Given the description of an element on the screen output the (x, y) to click on. 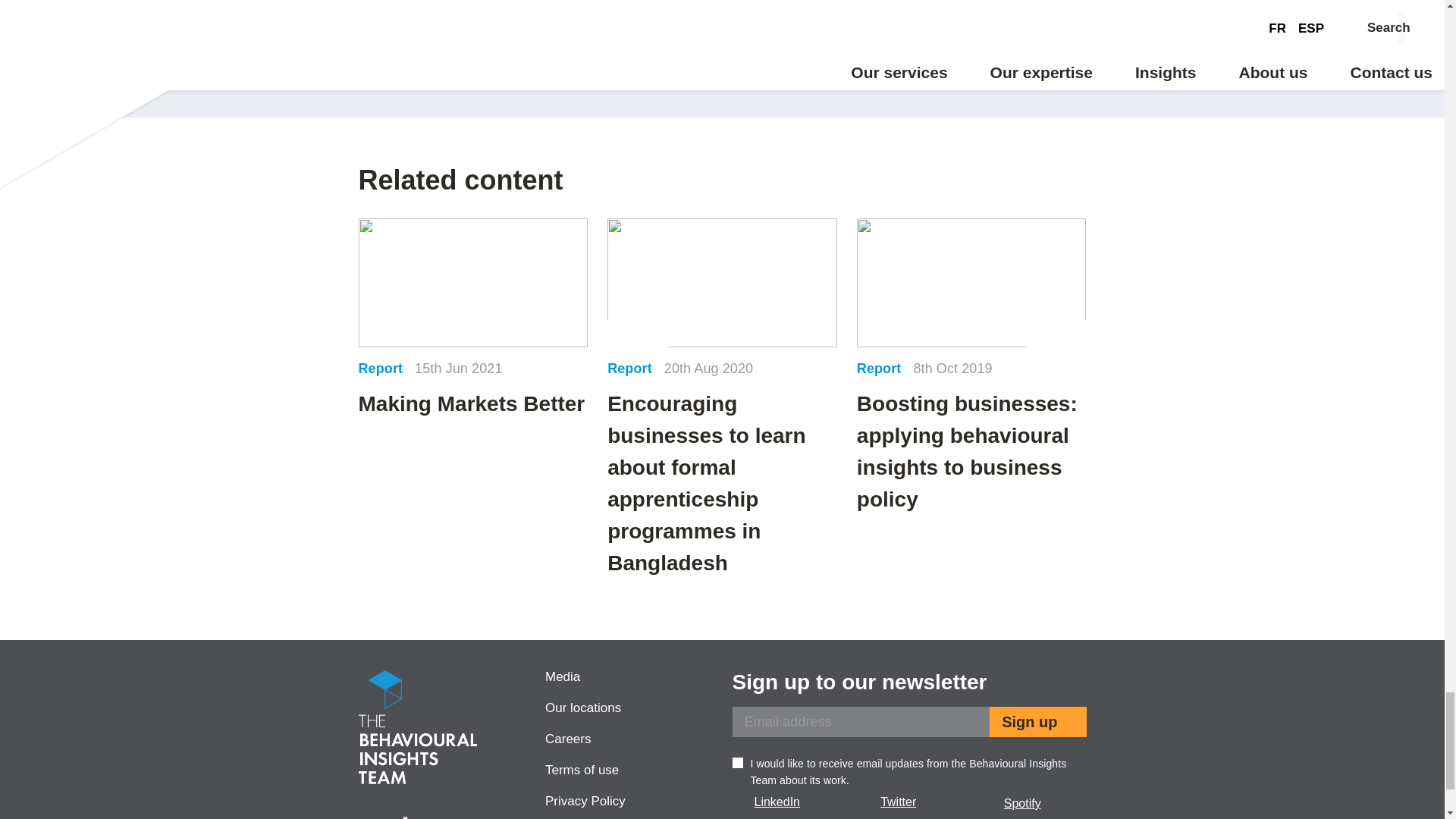
Making Markets Better (473, 319)
Professor David Halpern CBE (534, 43)
Nida Broughton (909, 43)
